Given the description of an element on the screen output the (x, y) to click on. 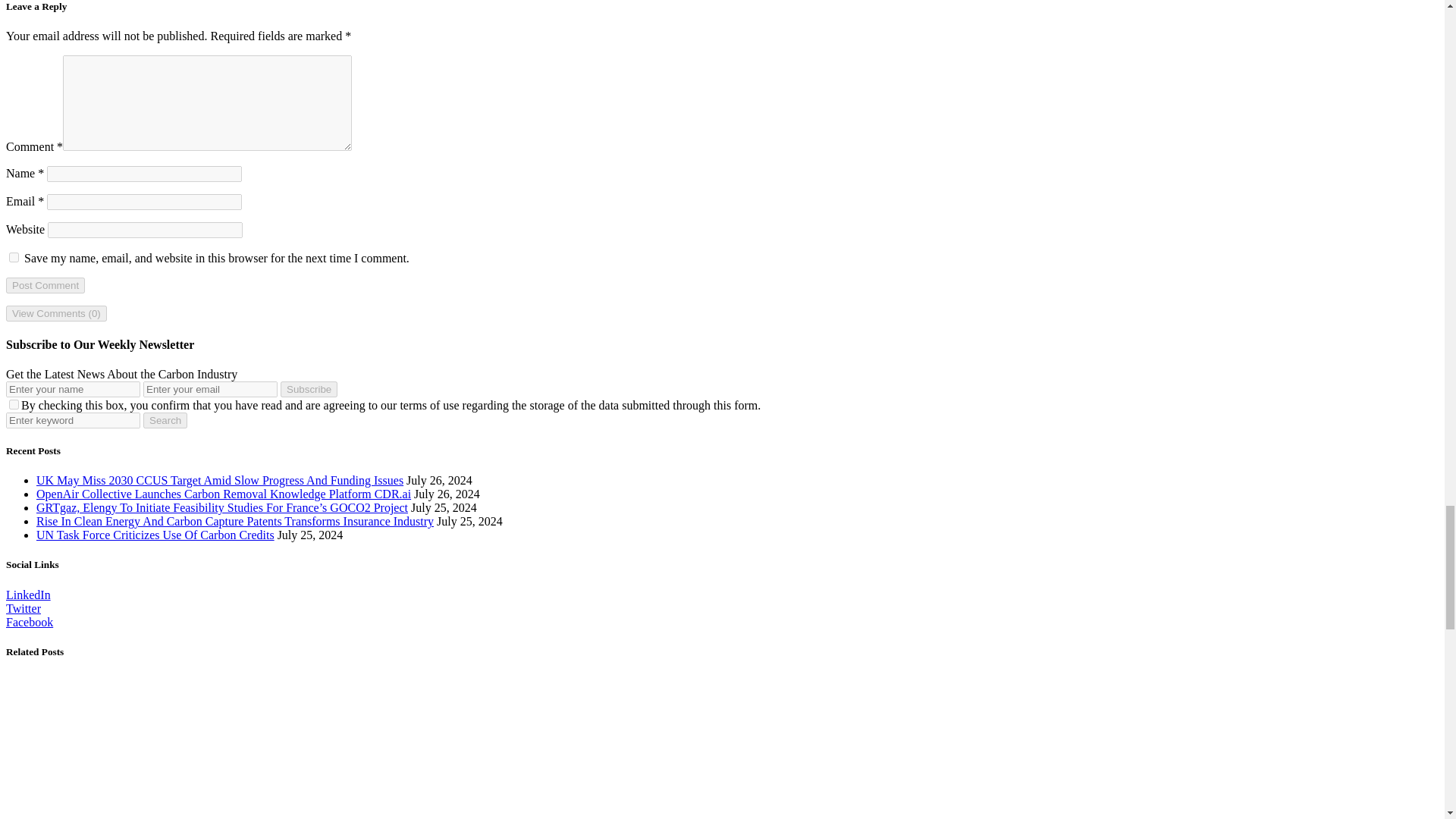
Post Comment (44, 285)
yes (13, 257)
on (13, 404)
